Given the description of an element on the screen output the (x, y) to click on. 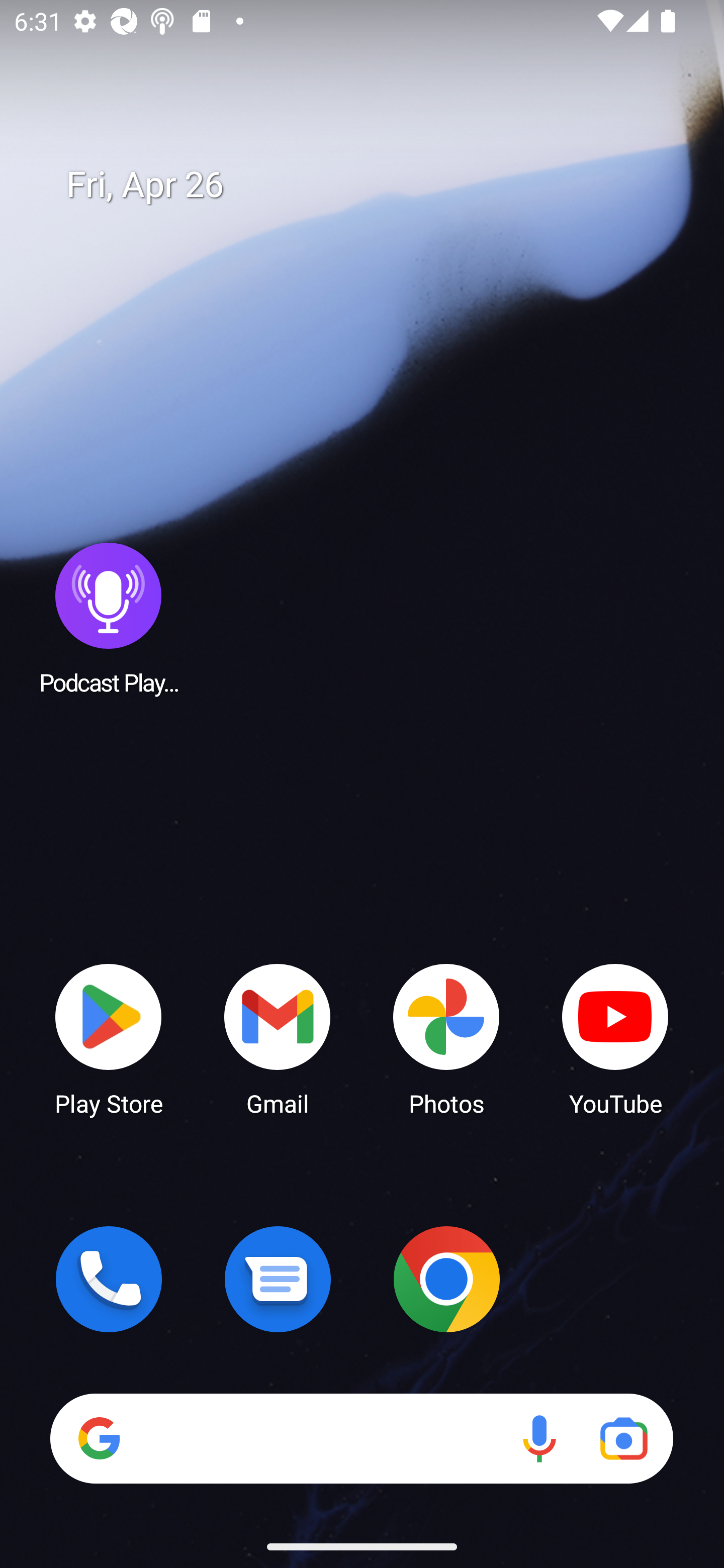
Fri, Apr 26 (375, 184)
Podcast Player (108, 617)
Play Store (108, 1038)
Gmail (277, 1038)
Photos (445, 1038)
YouTube (615, 1038)
Phone (108, 1279)
Messages (277, 1279)
Chrome (446, 1279)
Search Voice search Google Lens (361, 1438)
Voice search (539, 1438)
Google Lens (623, 1438)
